Given the description of an element on the screen output the (x, y) to click on. 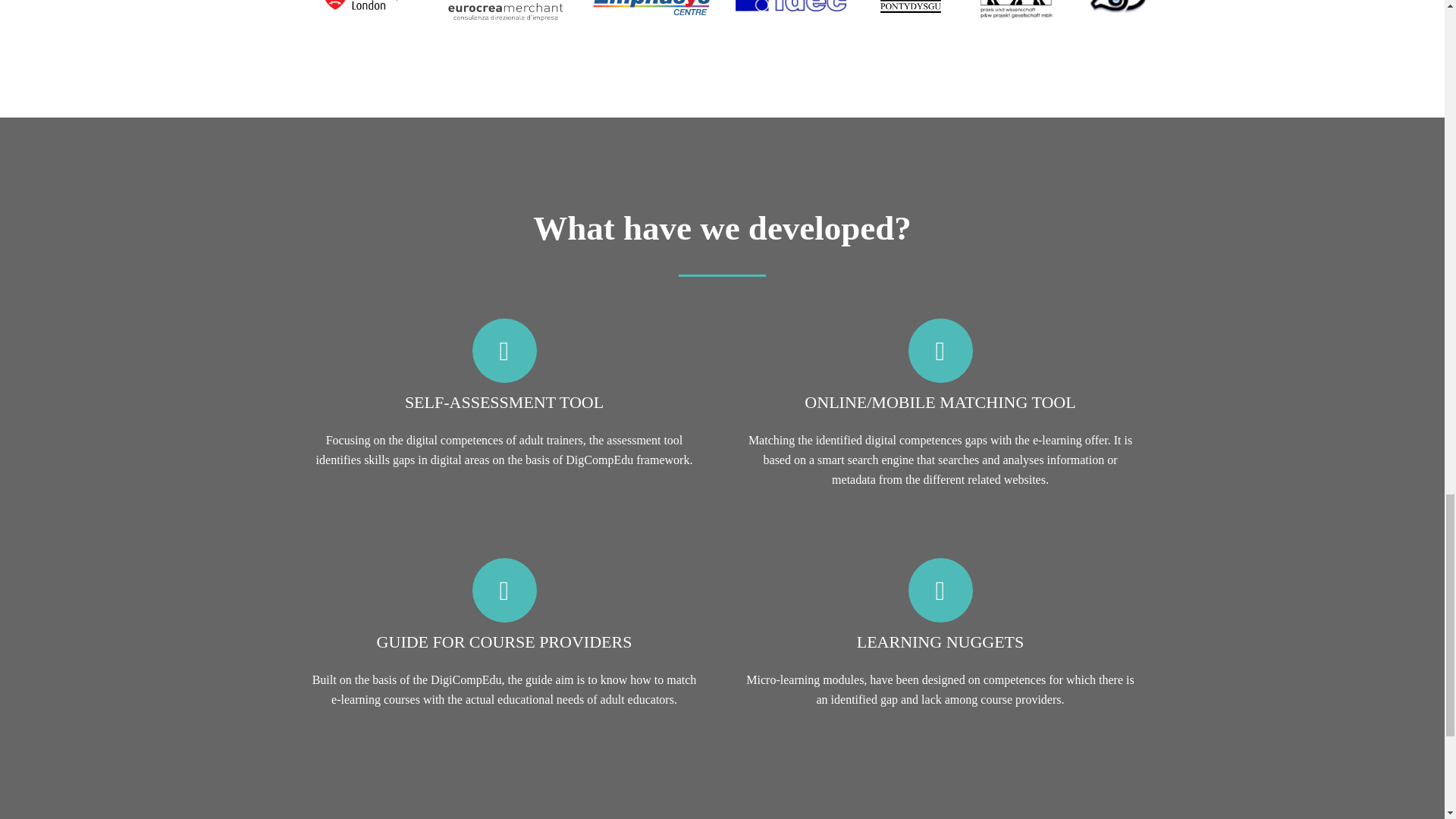
pwlogo.fw (1023, 9)
EM-LOGO-PNG (505, 13)
12. IDEC (790, 6)
Emphasys-Logo-Final-Transparent Blue (651, 12)
